Given the description of an element on the screen output the (x, y) to click on. 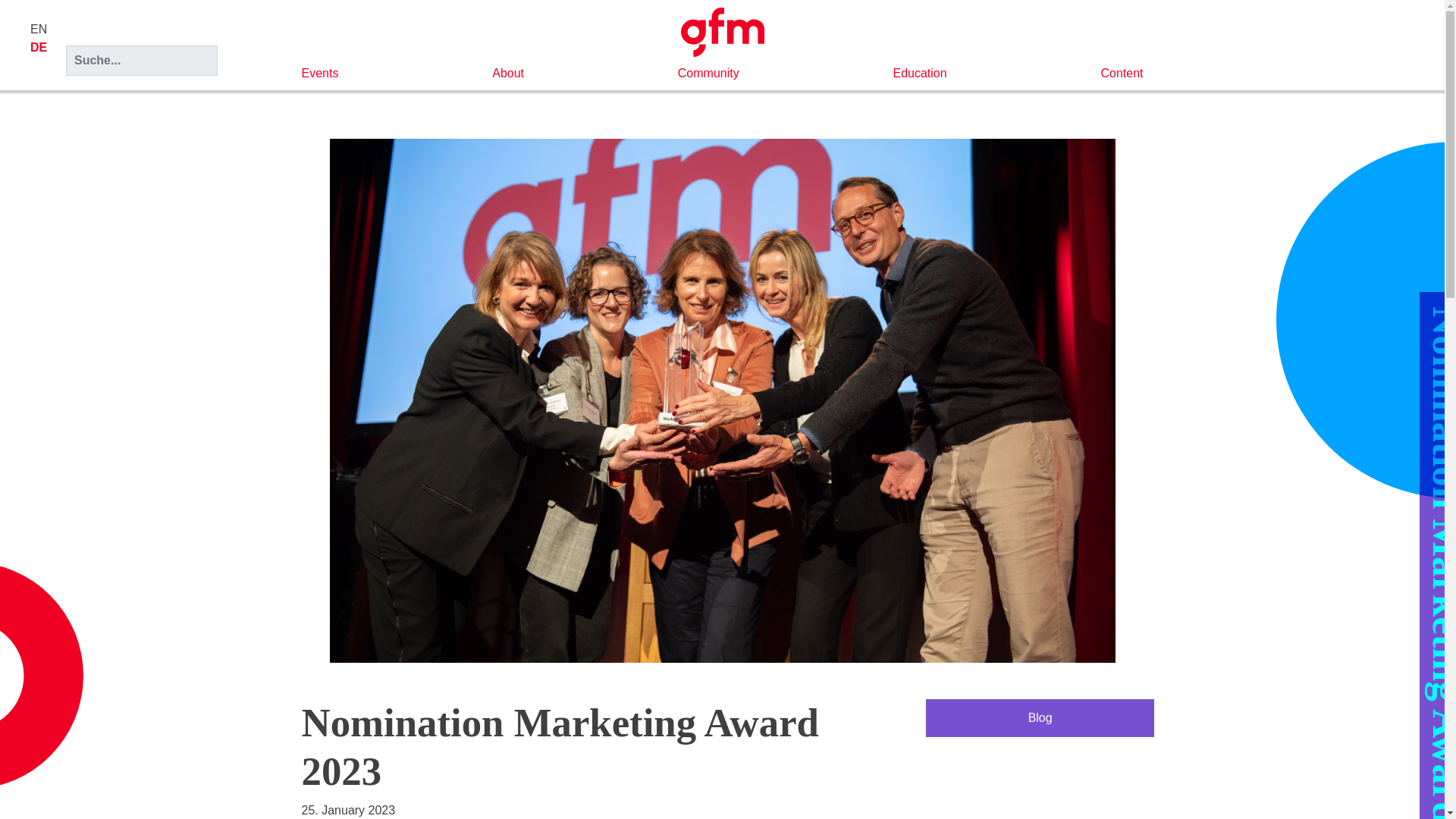
Education (919, 72)
About (508, 72)
DE (38, 47)
Community (708, 72)
Content (1121, 72)
Events (320, 72)
Blog (1040, 718)
